Given the description of an element on the screen output the (x, y) to click on. 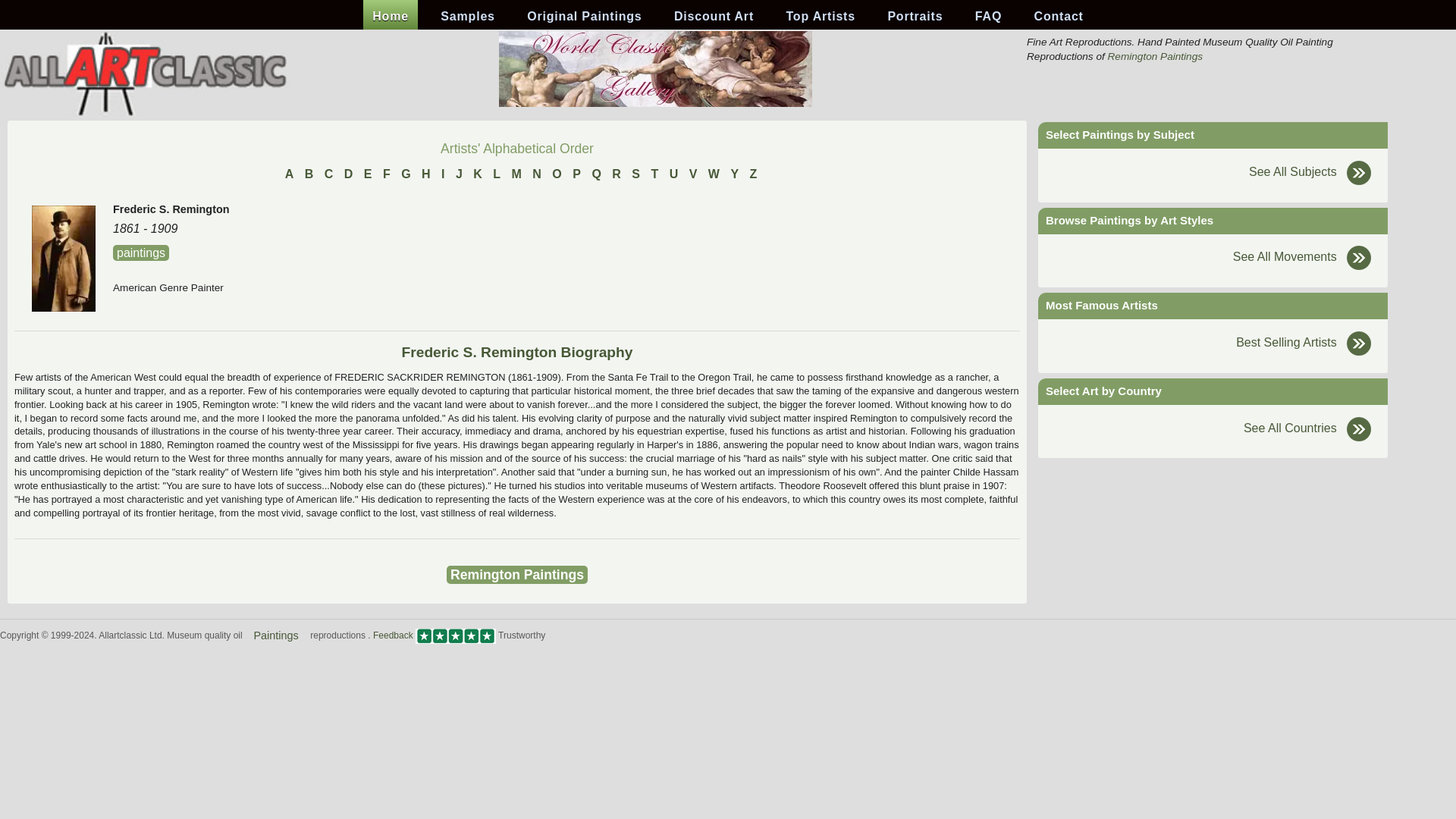
Home (389, 17)
Portraits (914, 17)
Remington Paintings (1155, 56)
FAQ (988, 17)
Top Artists (819, 17)
Samples (466, 17)
Original Paintings (584, 17)
Discount Art (713, 17)
Contact (1059, 17)
